Given the description of an element on the screen output the (x, y) to click on. 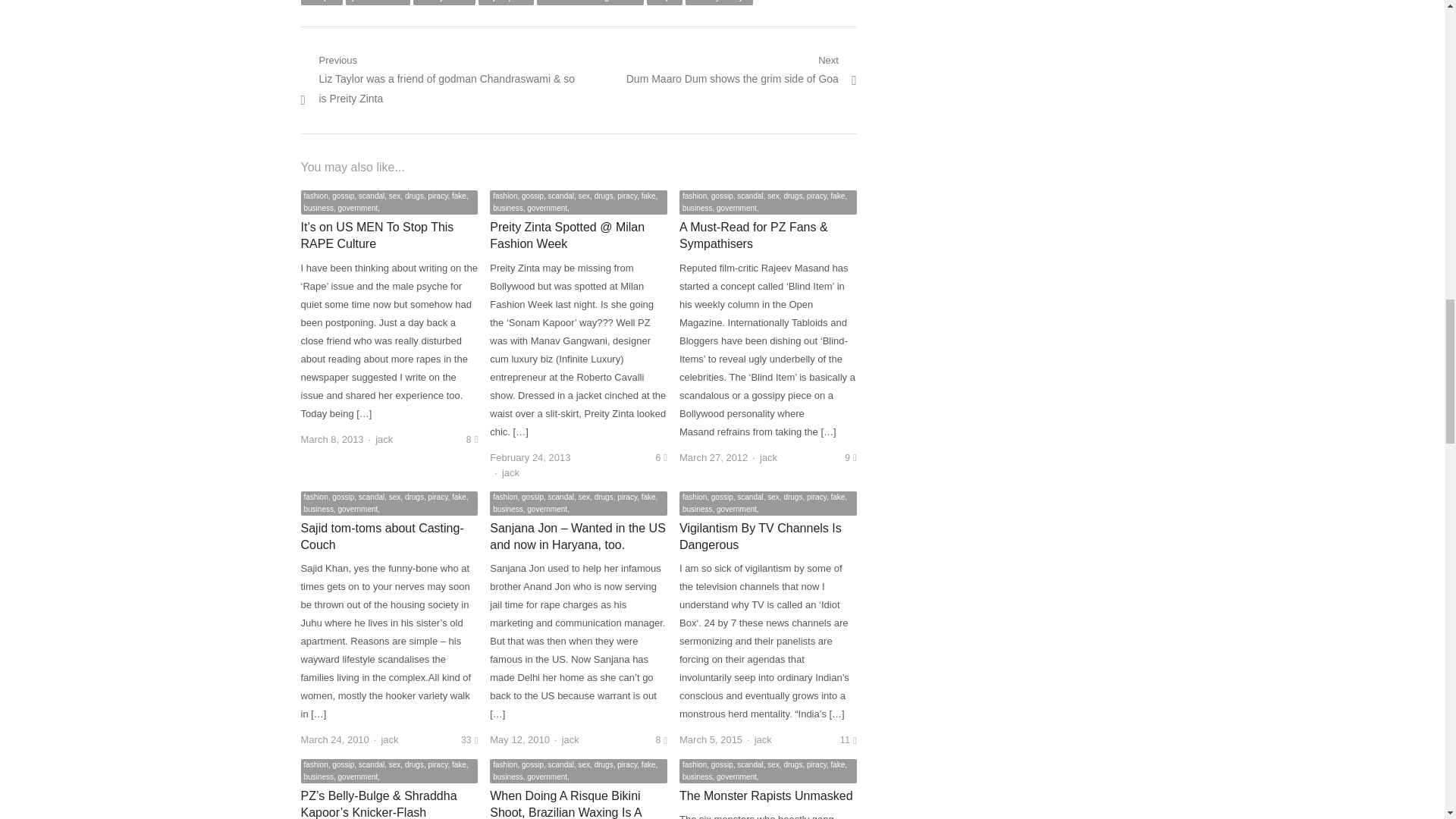
jack (384, 439)
jack (510, 472)
jhanu barua (378, 2)
8 (471, 439)
Rape (664, 2)
6 (661, 457)
shiney ahuja (718, 2)
har pal (320, 2)
raj kapoor (741, 70)
Preity Zinta (506, 2)
Ram Teri Ganga Maili (444, 2)
